Given the description of an element on the screen output the (x, y) to click on. 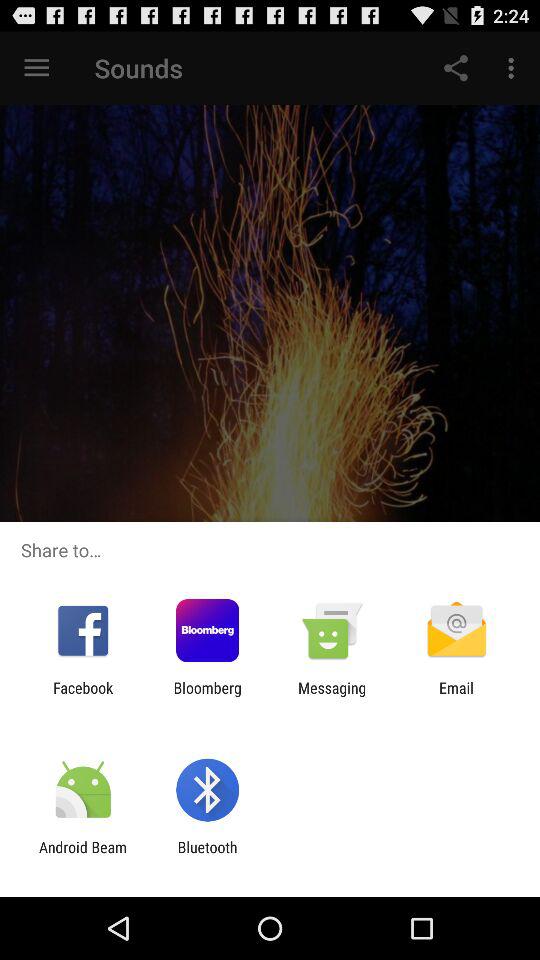
turn off messaging item (332, 696)
